Given the description of an element on the screen output the (x, y) to click on. 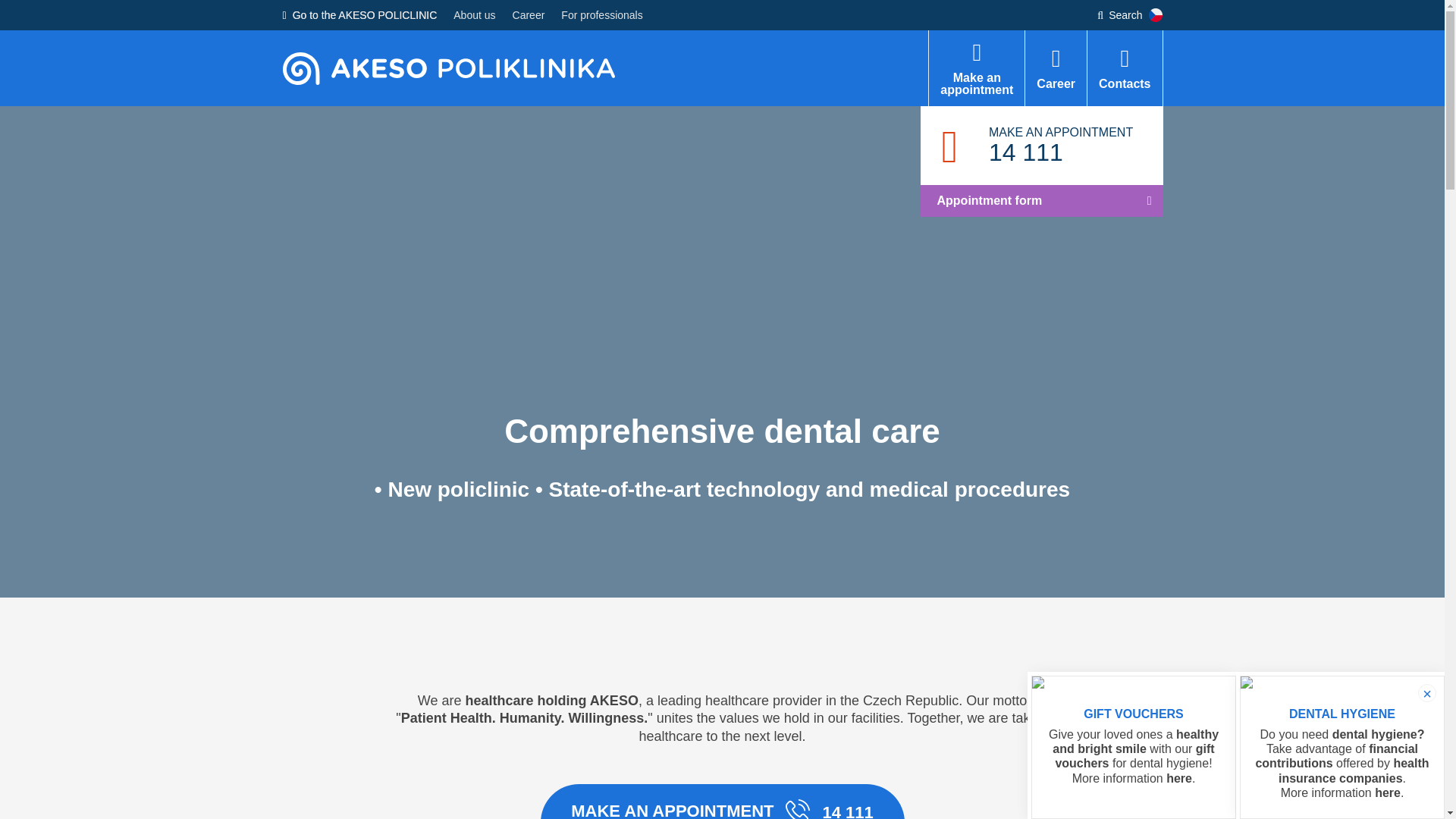
Search (1041, 161)
For professionals (1119, 15)
here. (601, 15)
Book appointment online (976, 68)
Go to the AKESO POLICLINIC (1388, 792)
Contacts (976, 68)
here. (359, 15)
